Given the description of an element on the screen output the (x, y) to click on. 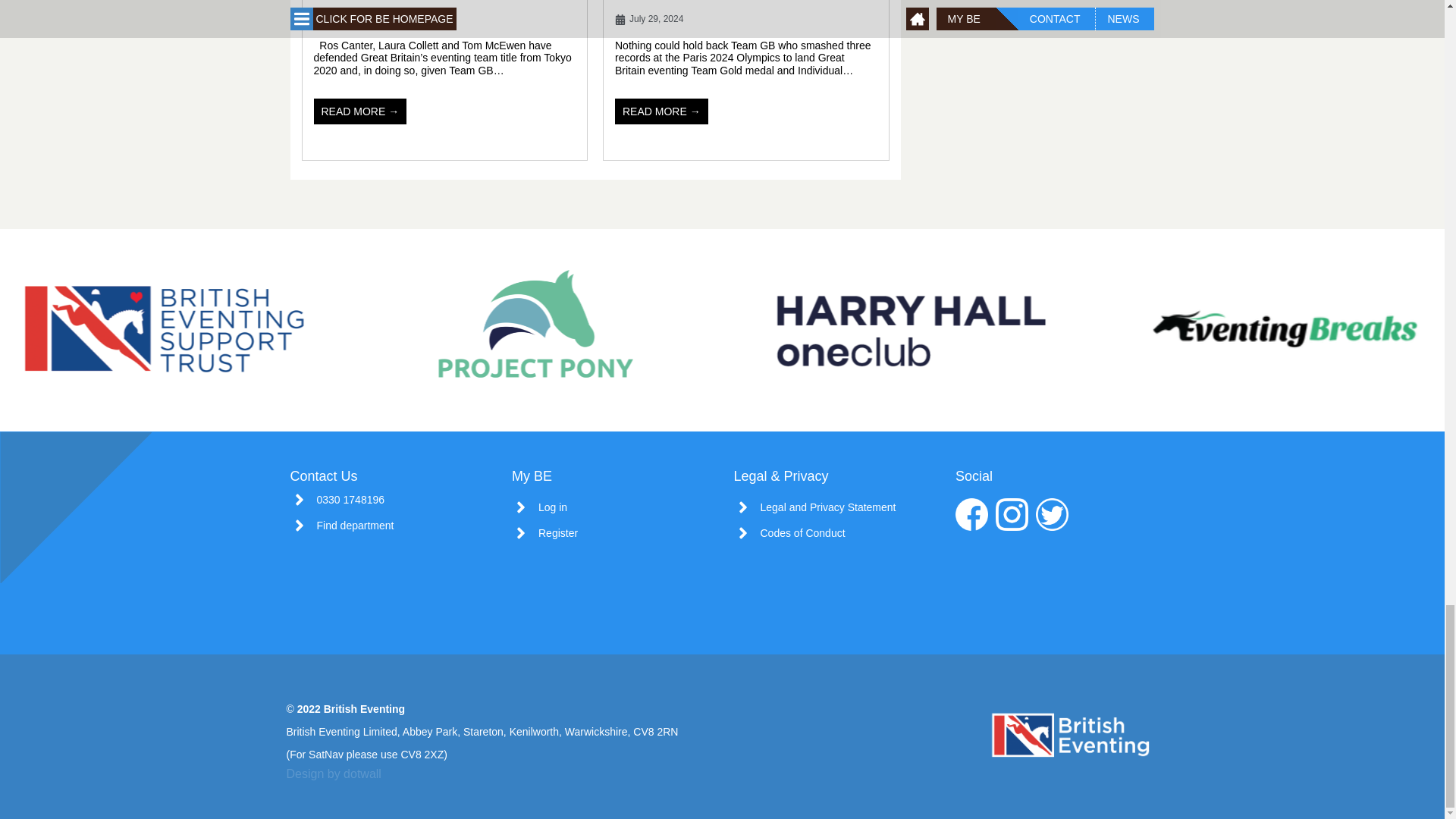
July 30, 2024 (347, 19)
July 29, 2024 (648, 19)
